Given the description of an element on the screen output the (x, y) to click on. 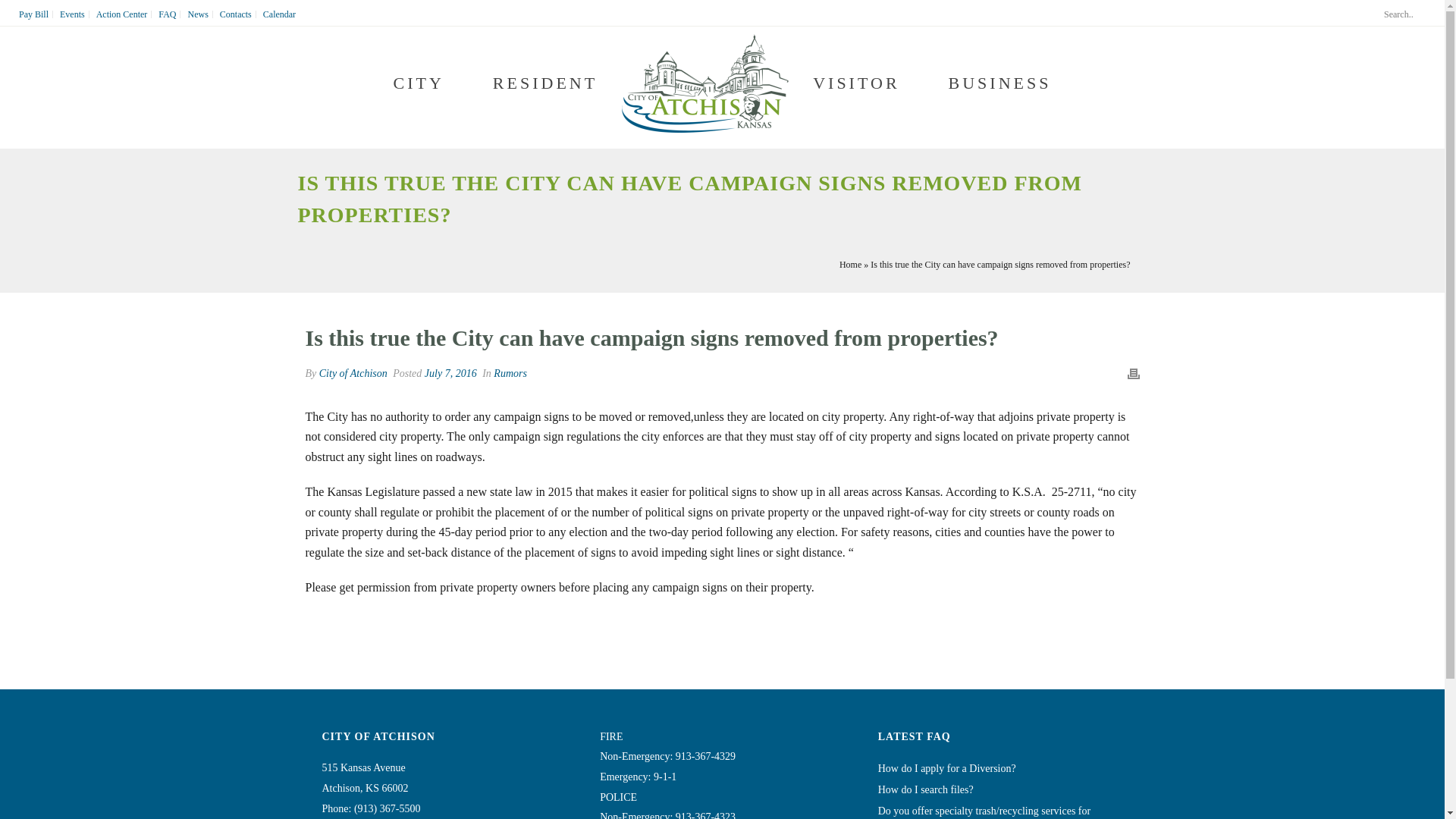
VISITOR (856, 84)
Pay Bill (33, 14)
CITY (418, 84)
City of Atchison (705, 83)
FAQ (167, 14)
Action Center (122, 14)
Events (72, 14)
BUSINESS (999, 84)
News (197, 14)
Posts by City of Atchison (352, 373)
